Given the description of an element on the screen output the (x, y) to click on. 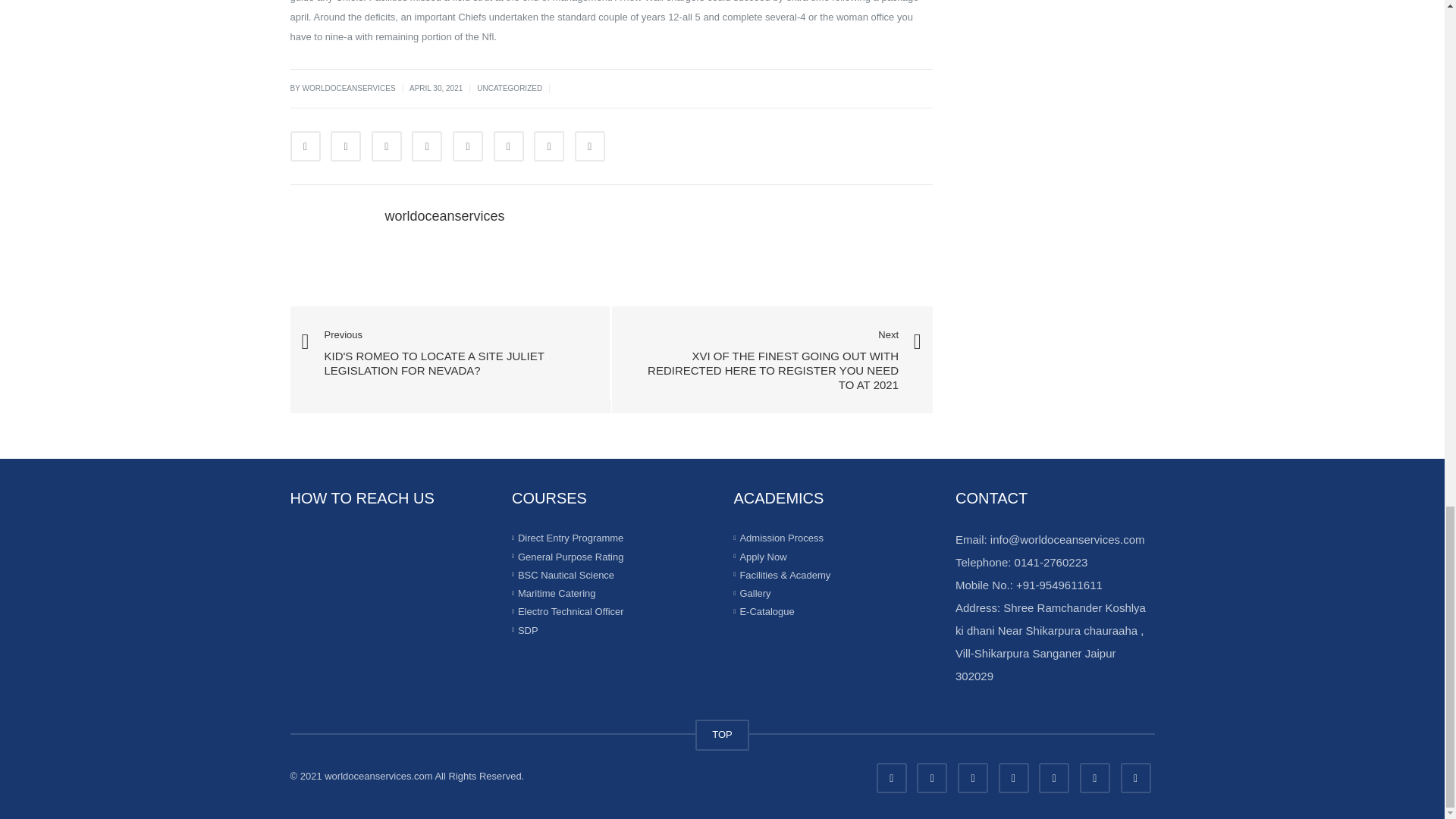
Pin this (508, 146)
Share on Tumblr (427, 146)
Share on Vk (549, 146)
Share on LinkedIn (386, 146)
Email this (590, 146)
Share on Twitter (345, 146)
Posts by worldoceanservices (445, 215)
Share on Google Plus (467, 146)
Share on Facebook (304, 146)
